Given the description of an element on the screen output the (x, y) to click on. 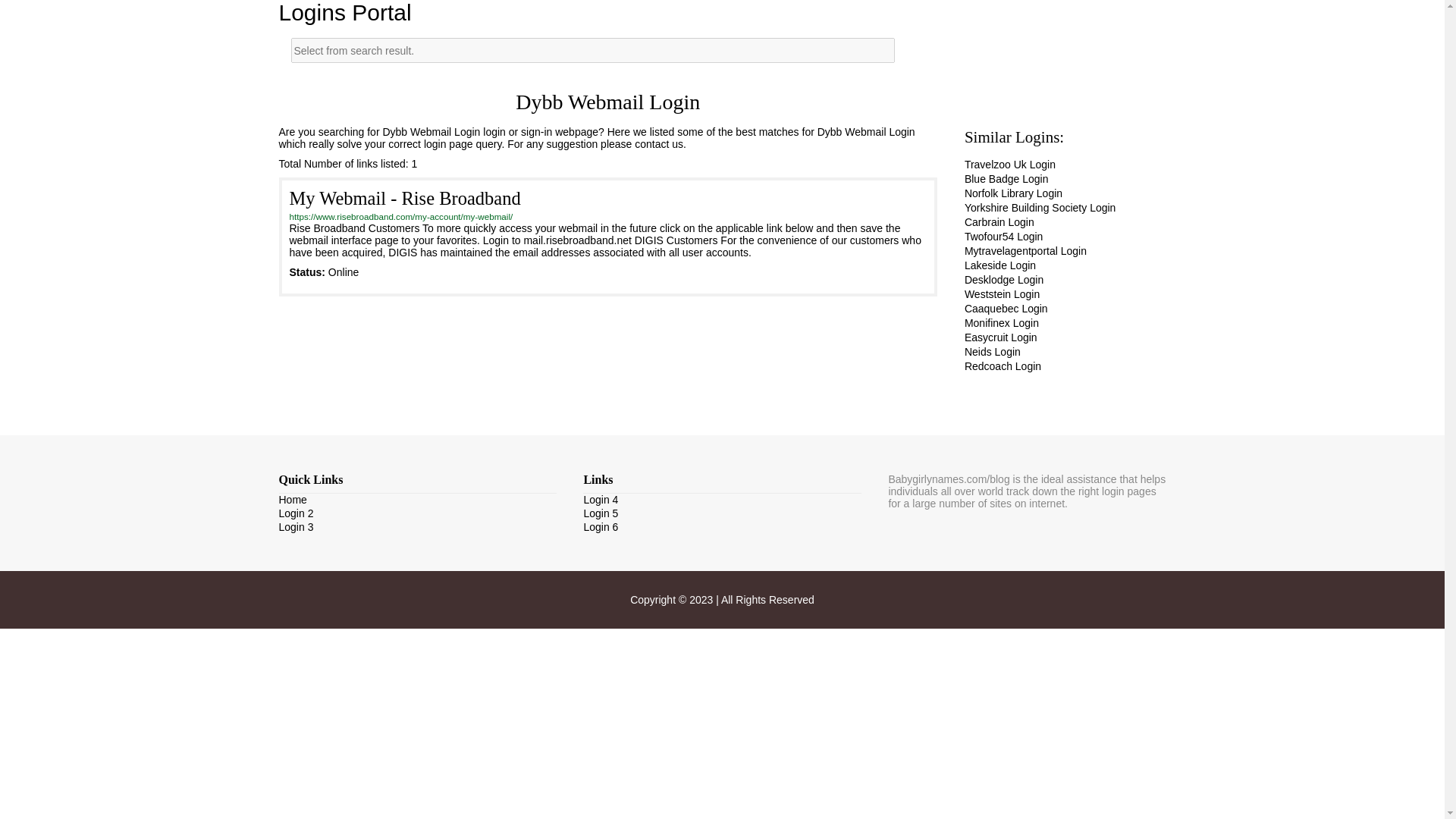
Login 5 (600, 512)
Login 4 (600, 499)
Logins Portal (345, 12)
Login 6 (600, 526)
Login 3 (296, 526)
Login 2 (296, 512)
Home (293, 499)
